Given the description of an element on the screen output the (x, y) to click on. 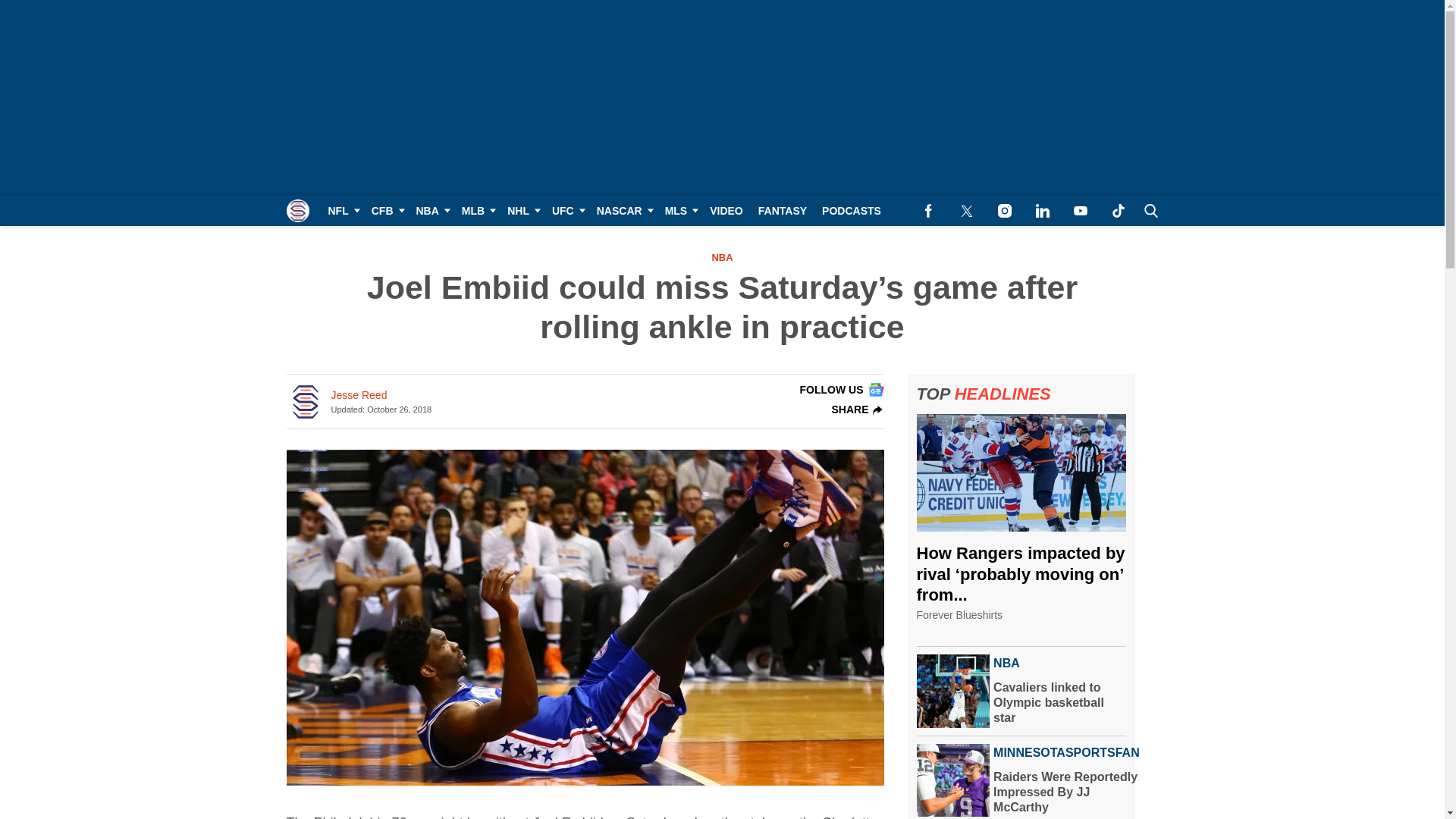
Follow us on Twitter (966, 210)
Posts by Jesse Reed (358, 395)
Follow us on Instagram (1004, 210)
UFC (566, 210)
MLB (476, 210)
Follow us on Facebook (928, 210)
NBA (429, 210)
Subscribe to our TikTok channel (1118, 210)
CFB (386, 210)
Connect with us on LinkedIn (1042, 210)
